Given the description of an element on the screen output the (x, y) to click on. 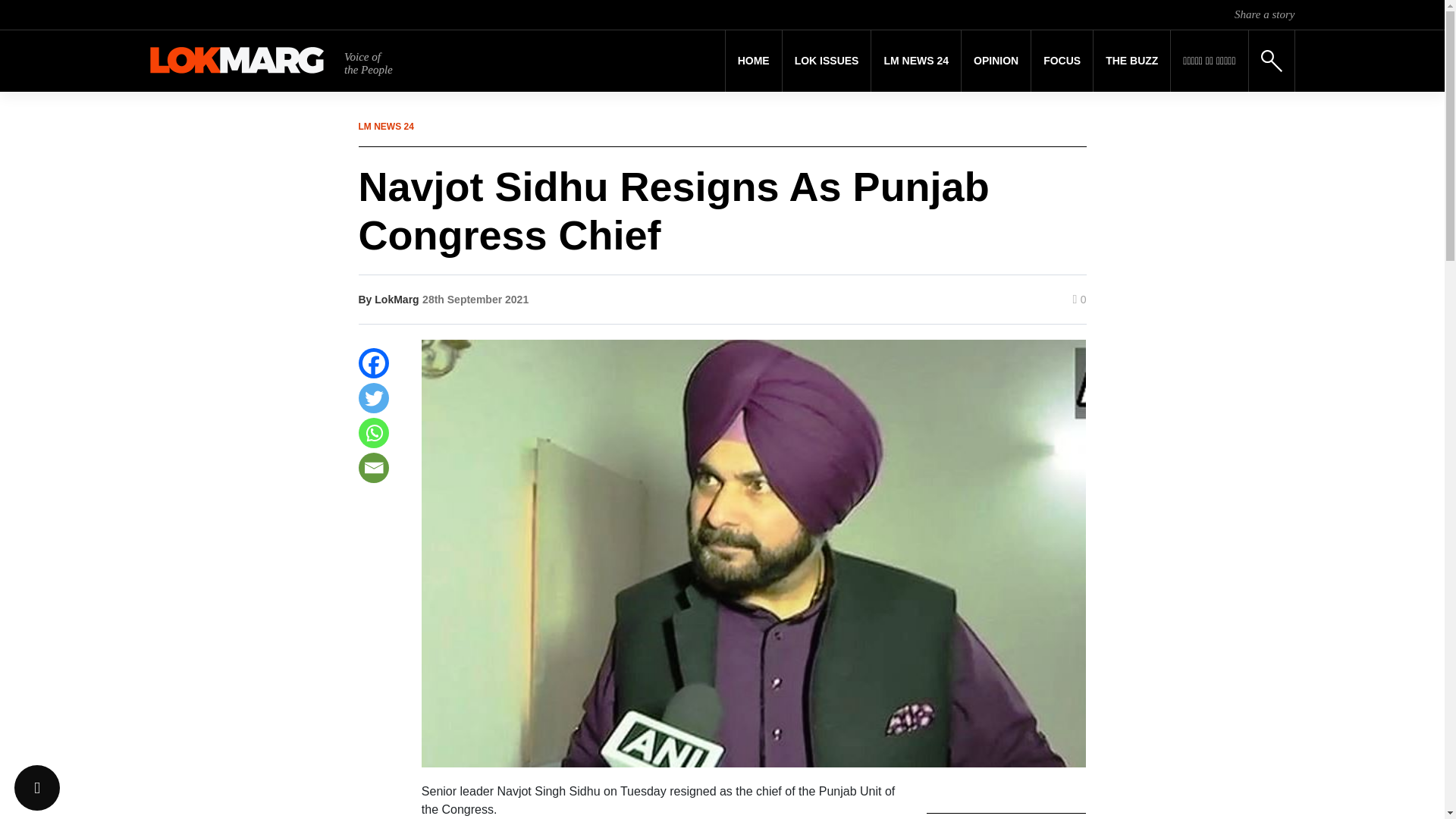
THE BUZZ (1131, 60)
LokMarg (396, 299)
Home (753, 60)
Opinion (995, 60)
Whatsapp (373, 432)
LM NEWS 24 (915, 60)
HOME (753, 60)
FOCUS (1061, 60)
Focus (1061, 60)
Twitter (373, 398)
